Given the description of an element on the screen output the (x, y) to click on. 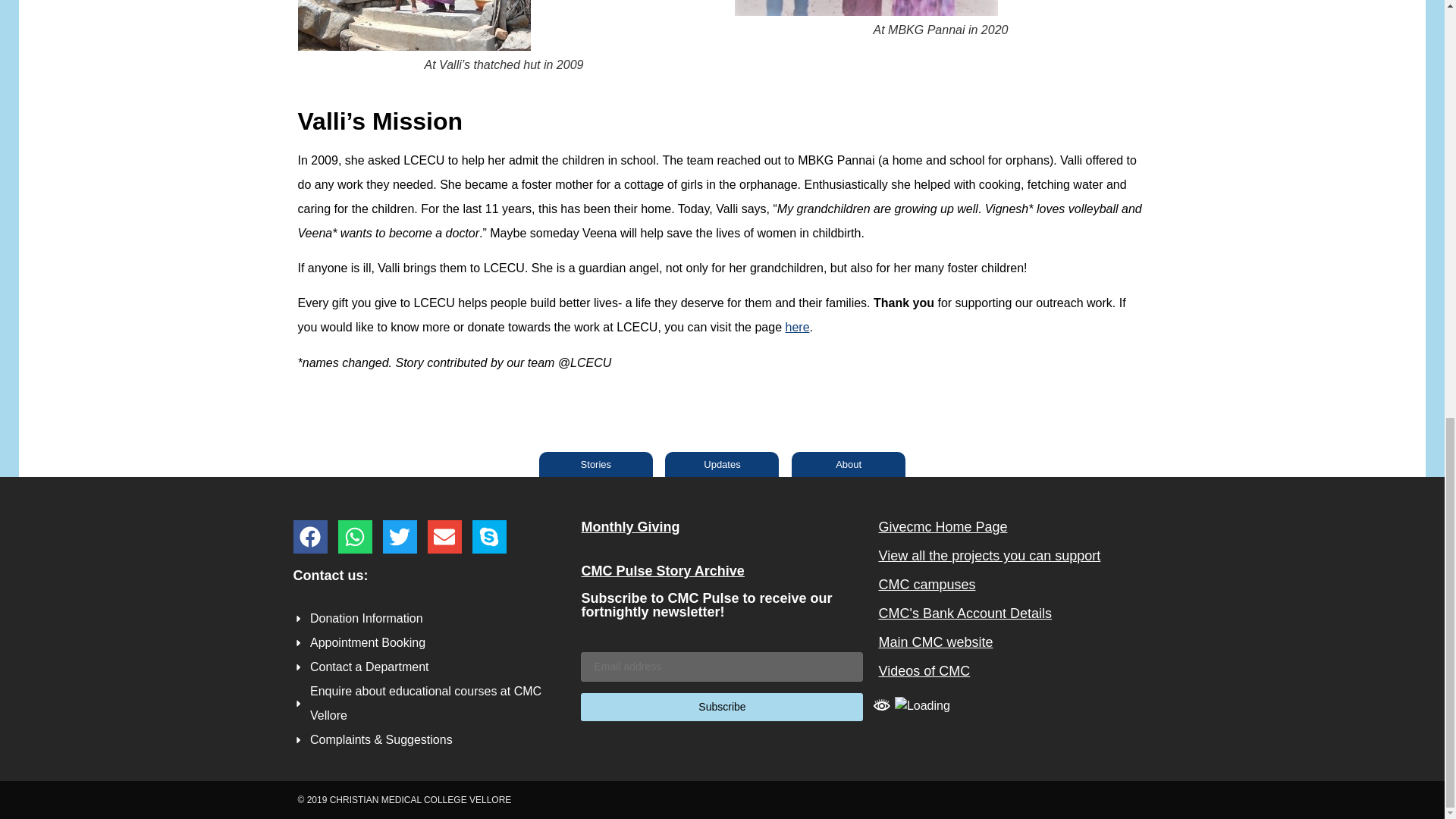
Enquire about educational courses at CMC Vellore (433, 703)
View all the projects you can support (988, 555)
Videos of CMC (923, 670)
Donation Information (433, 618)
Updates (721, 464)
Stories (595, 464)
Contact a Department (433, 667)
Monthly Giving (629, 526)
here (797, 327)
About (848, 464)
CMC Pulse Story Archive (662, 570)
CMC's Bank Account Details (964, 613)
Subscribe (721, 706)
Givecmc Home Page (942, 526)
CMC campuses (926, 584)
